Given the description of an element on the screen output the (x, y) to click on. 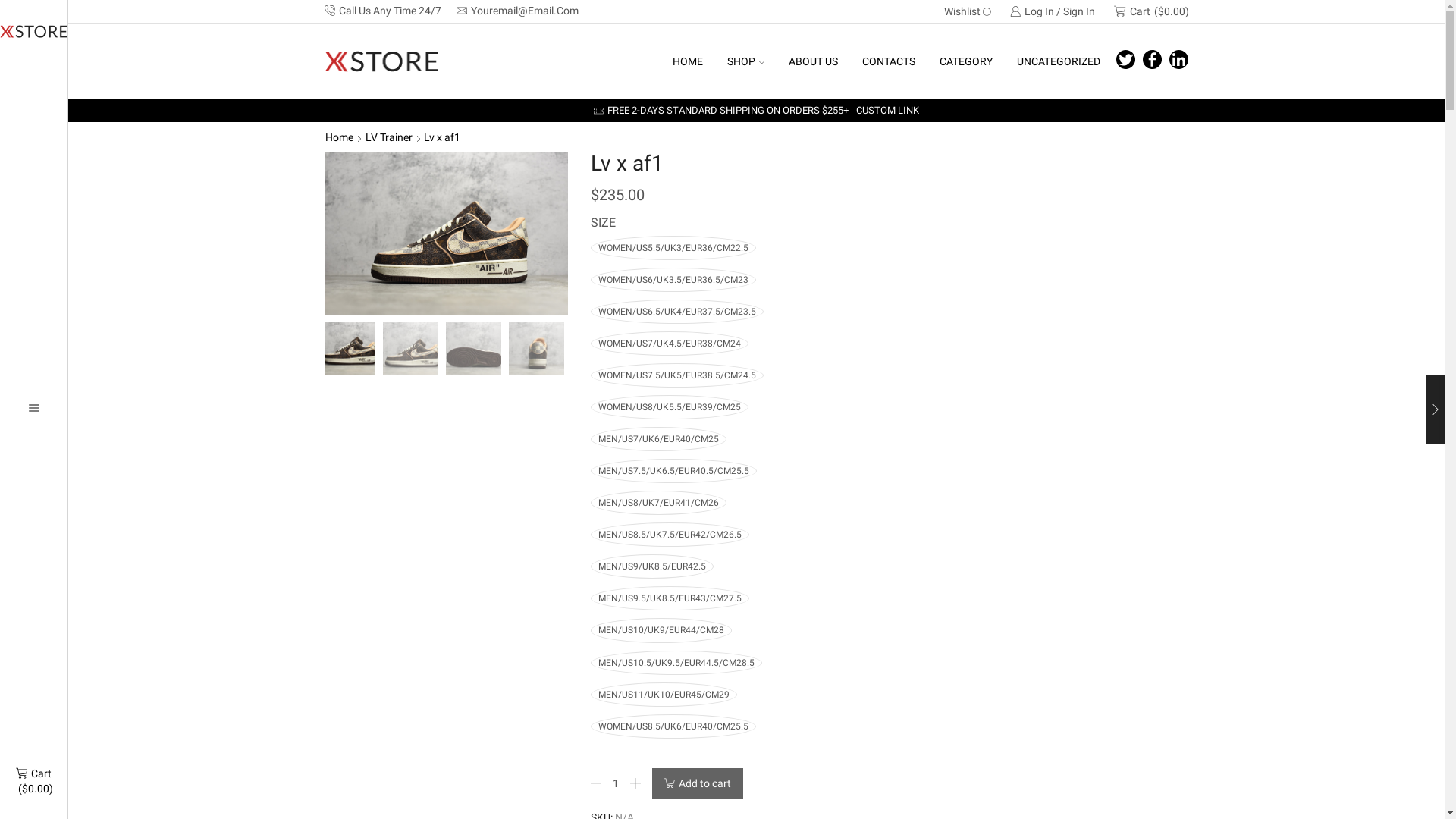
Cart
($0.00) Element type: text (33, 780)
CUSTOM LINK Element type: text (887, 110)
Qty Element type: hover (614, 782)
HOME Element type: text (687, 61)
UNCATEGORIZED Element type: text (1058, 61)
2a40bf7a Element type: hover (445, 233)
Cart
($0.00) Element type: text (1150, 10)
Add to cart Element type: text (697, 783)
CONTACTS Element type: text (888, 61)
Log In / Sign In Element type: text (1052, 10)
7ae7d993 Element type: hover (473, 349)
CATEGORY Element type: text (966, 61)
08d70fea Element type: hover (536, 349)
SHOP Element type: text (745, 61)
ABOUT US Element type: text (813, 61)
Home Element type: text (339, 137)
LV Trainer Element type: text (388, 137)
Log in Element type: text (1002, 205)
2a40bf7a Element type: hover (410, 349)
2a40bf7a Element type: hover (347, 347)
